Given the description of an element on the screen output the (x, y) to click on. 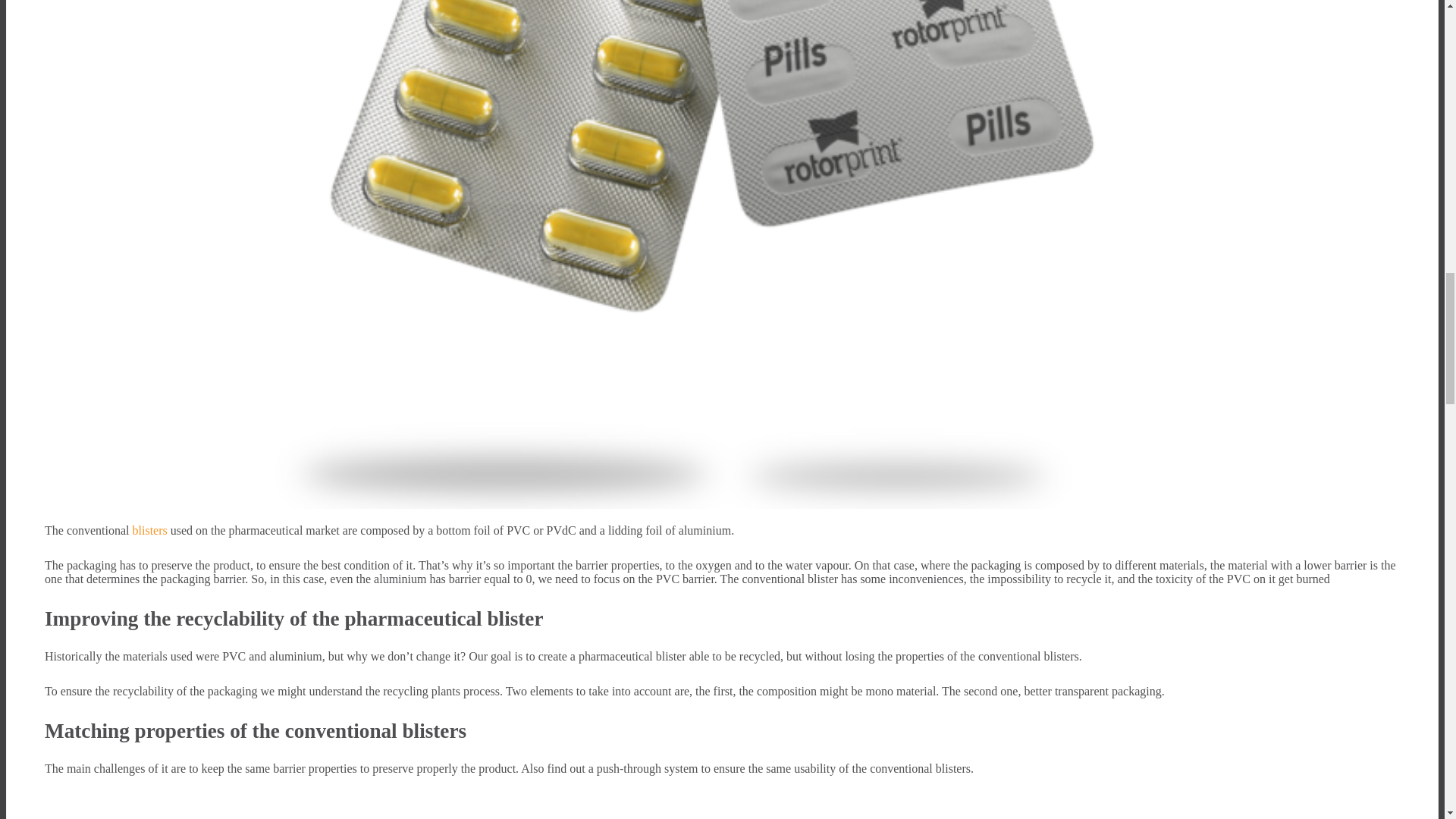
blisters (149, 530)
